Given the description of an element on the screen output the (x, y) to click on. 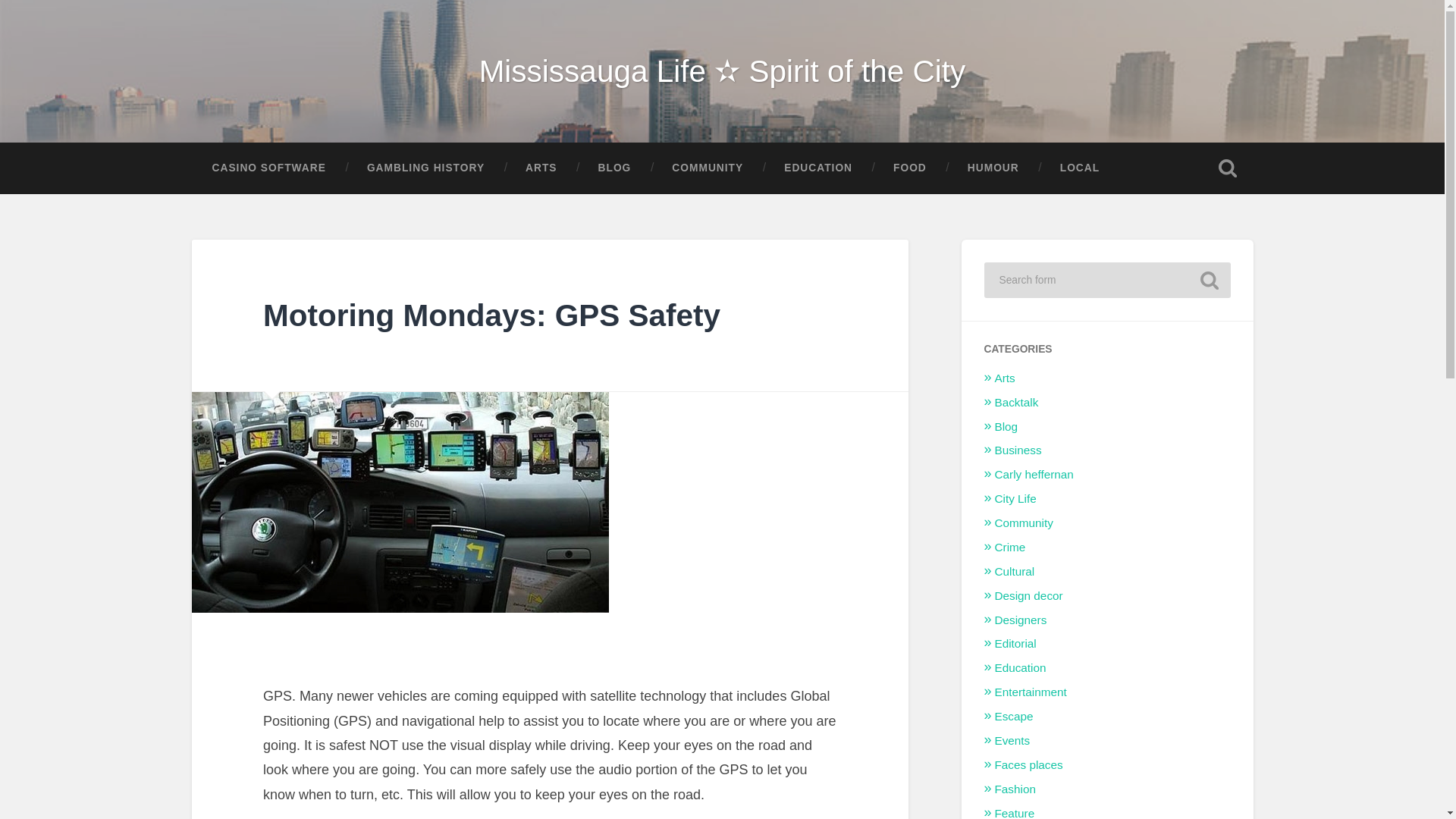
GAMBLING HISTORY (425, 168)
Carly heffernan (1034, 473)
Backtalk (1016, 401)
EDUCATION (817, 168)
Search (1209, 280)
ARTS (540, 168)
City Life (1015, 498)
BLOG (615, 168)
Arts (1004, 377)
Blog (1005, 426)
